Given the description of an element on the screen output the (x, y) to click on. 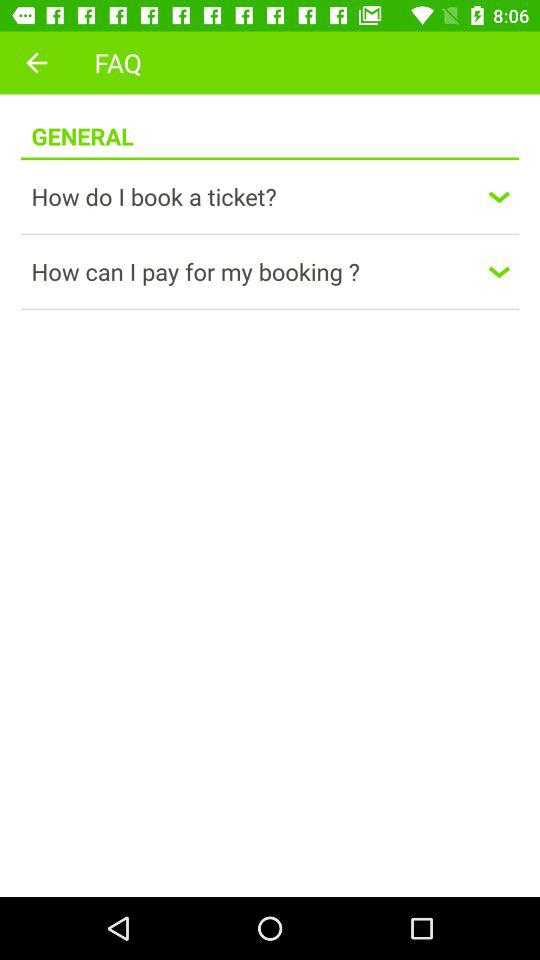
flip until general (82, 125)
